Given the description of an element on the screen output the (x, y) to click on. 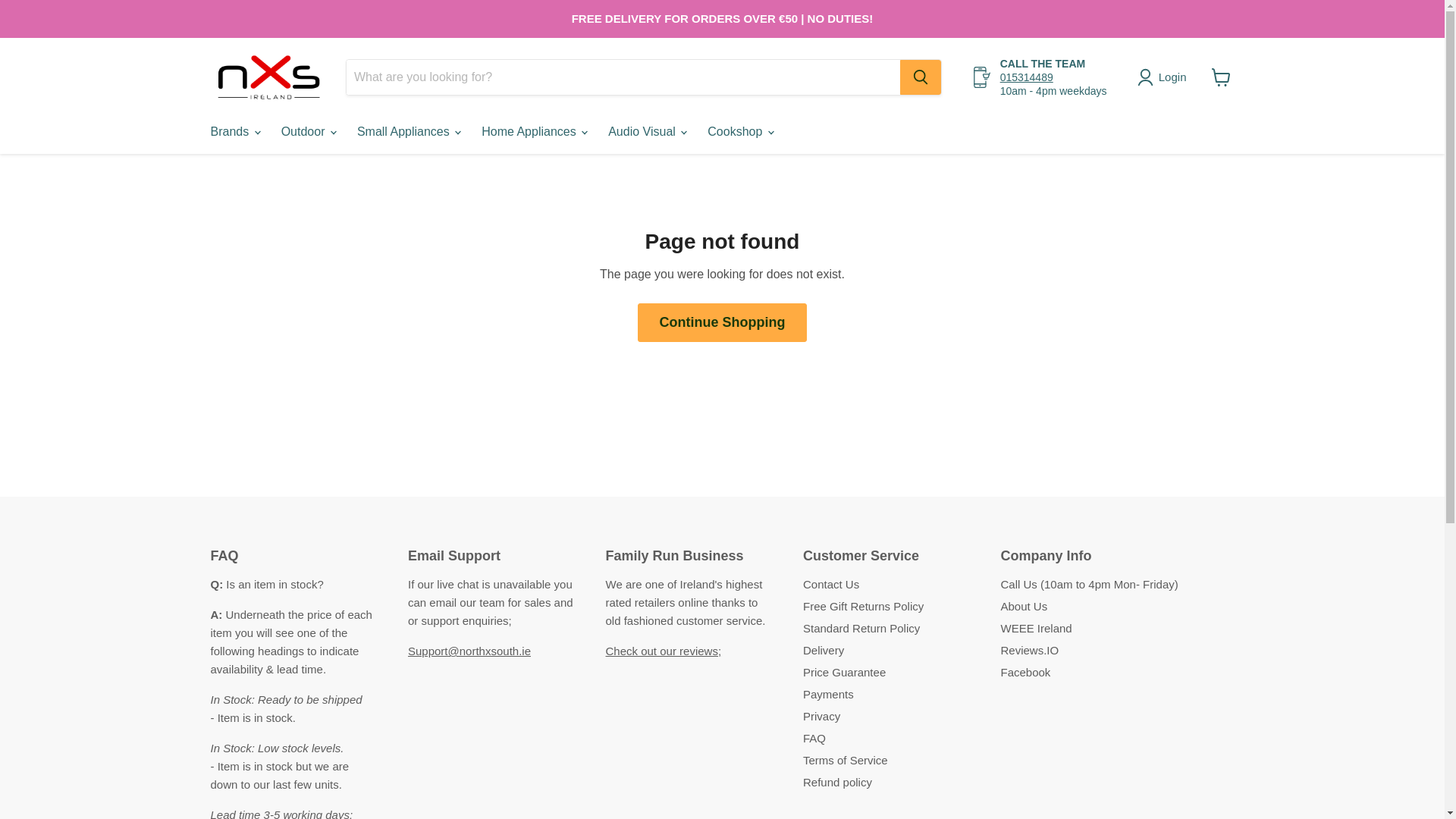
015314489 (1026, 77)
tel:015314489 (1026, 77)
Login (1164, 76)
View cart (1221, 77)
